Given the description of an element on the screen output the (x, y) to click on. 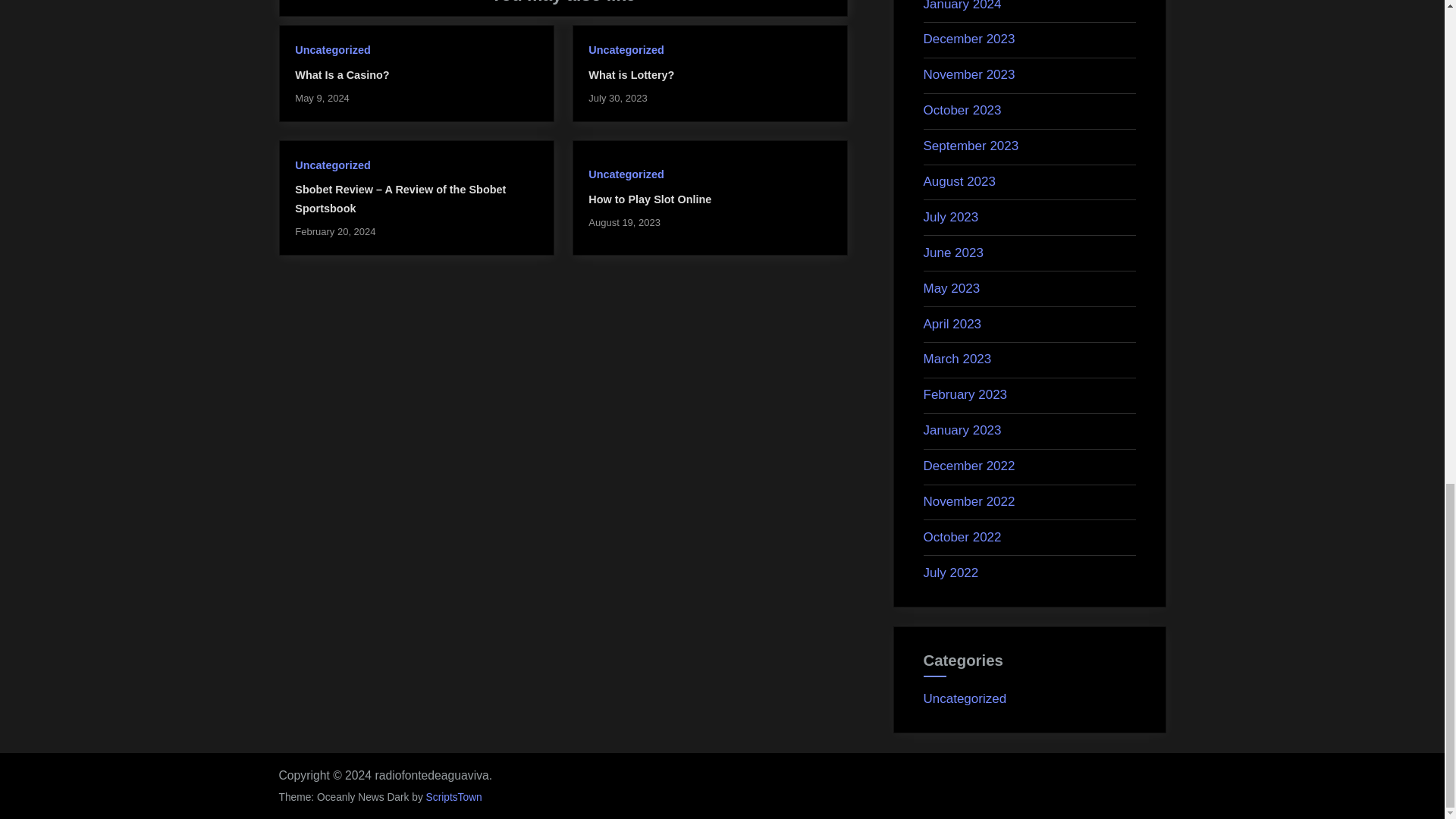
December 2023 (968, 38)
September 2023 (971, 145)
Uncategorized (332, 50)
November 2023 (968, 74)
Uncategorized (625, 50)
How to Play Slot Online (649, 199)
What is Lottery? (631, 74)
January 2024 (962, 5)
Uncategorized (625, 174)
Uncategorized (332, 164)
August 2023 (959, 181)
October 2023 (962, 110)
What Is a Casino? (341, 74)
